Given the description of an element on the screen output the (x, y) to click on. 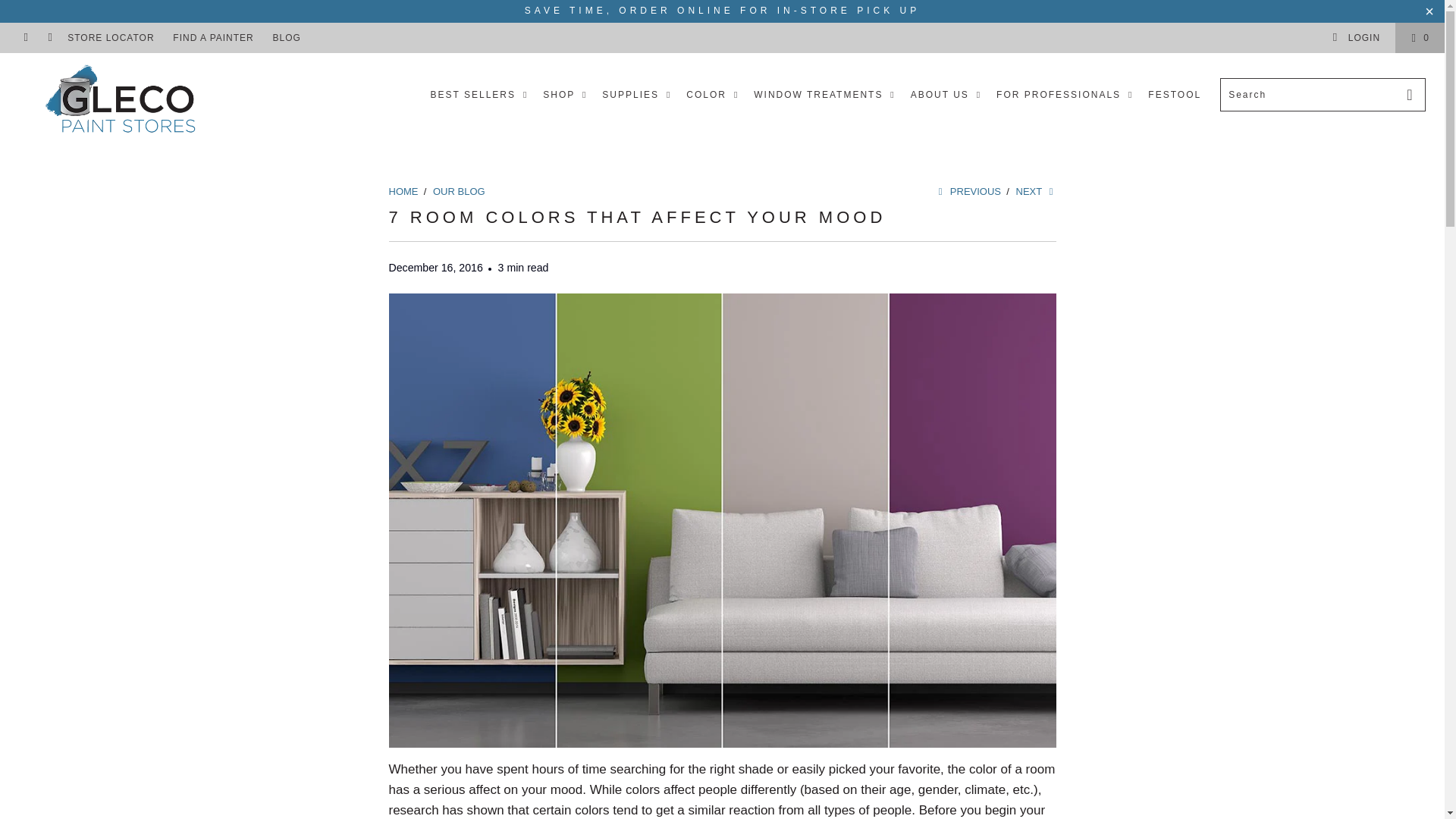
Gleco Paint (122, 101)
My Account  (1355, 37)
Our Blog (458, 191)
Gleco Paint (402, 191)
Gleco Paint on Facebook (25, 37)
Gleco Paint on Instagram (49, 37)
